Given the description of an element on the screen output the (x, y) to click on. 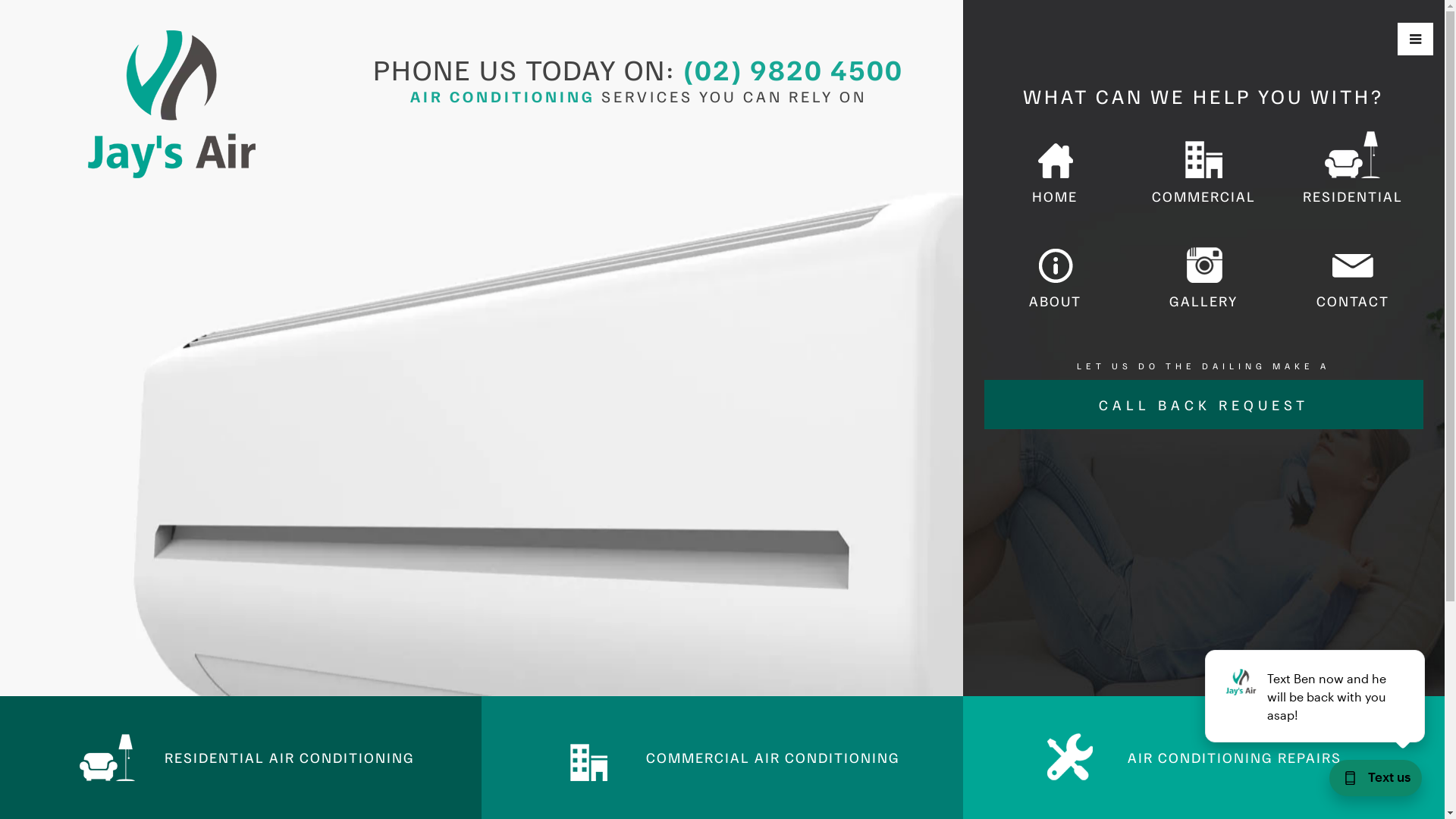
HOME Element type: text (1054, 169)
RESIDENTIAL AIR CONDITIONING Element type: text (240, 756)
ABOUT Element type: text (1054, 273)
CONTACT Element type: text (1351, 273)
podium webchat widget prompt Element type: hover (1315, 696)
RESIDENTIAL Element type: text (1351, 169)
AIR CONDITIONING REPAIRS Element type: text (1203, 756)
COMMERCIAL Element type: text (1203, 169)
GALLERY Element type: text (1203, 273)
CALL BACK REQUEST Element type: text (1203, 404)
COMMERCIAL AIR CONDITIONING Element type: text (721, 756)
